Given the description of an element on the screen output the (x, y) to click on. 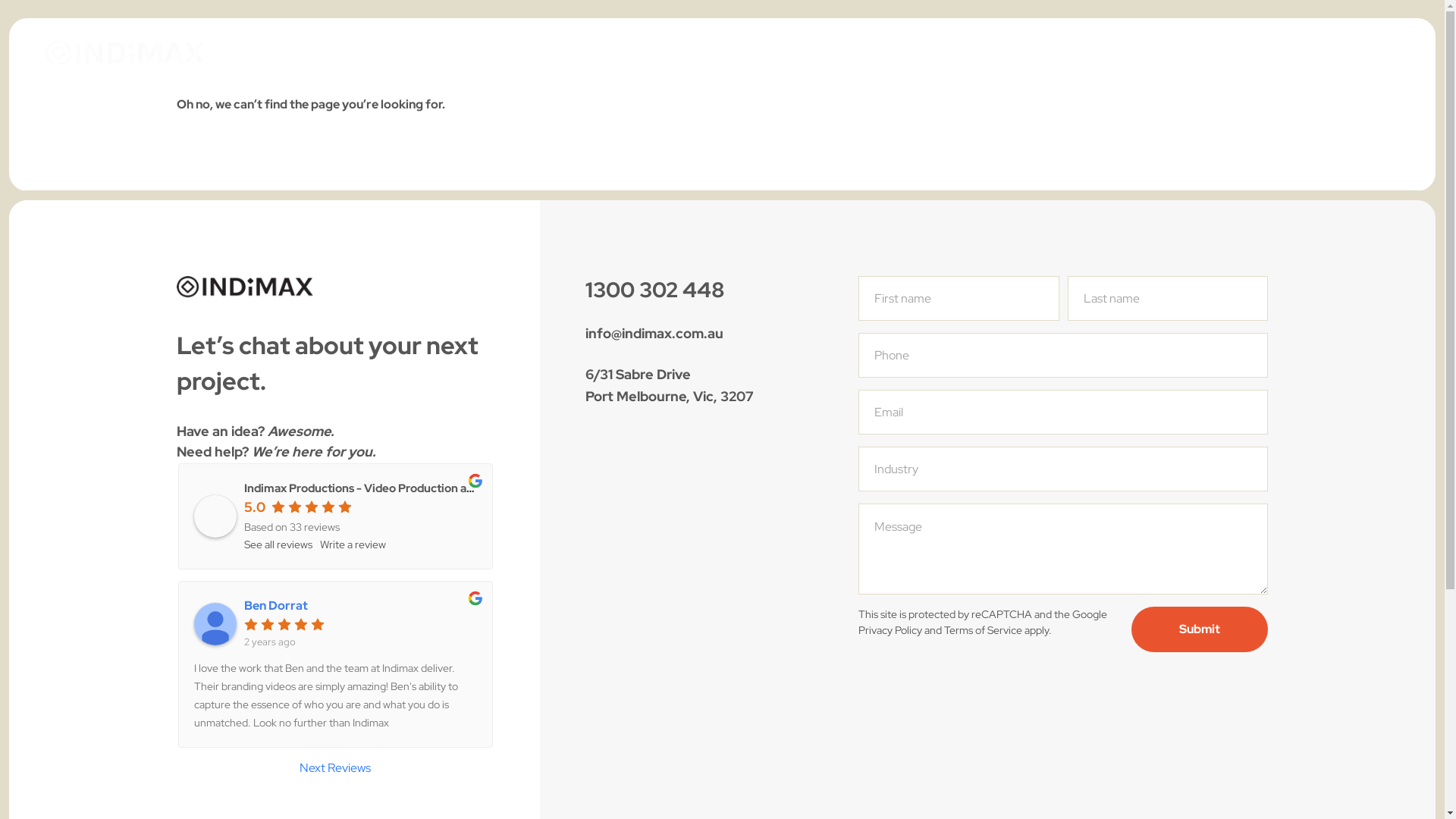
Blog Element type: text (807, 53)
1300 302 448 Element type: text (654, 289)
Contact Element type: text (874, 53)
Ben Dorrat Element type: text (360, 605)
info@indimax.com.au Element type: text (654, 333)
Folio Element type: text (750, 53)
Privacy Policy Element type: text (890, 630)
Ben Dorrat Element type: hover (215, 623)
Indimax Productions - Video Production and Animation Studio Element type: hover (215, 516)
Indimax Productions - Video Production and Animation Studio Element type: text (409, 487)
About Element type: text (583, 53)
Next Reviews Element type: text (334, 768)
Submit Element type: text (1199, 629)
See all reviews Element type: text (278, 544)
Our Services Element type: text (669, 53)
1300 302 448 Element type: text (1329, 51)
Terms of Service Element type: text (983, 630)
6/31 Sabre Drive
Port Melbourne, Vic, 3207 Element type: text (669, 384)
Write a review Element type: text (352, 544)
